Given the description of an element on the screen output the (x, y) to click on. 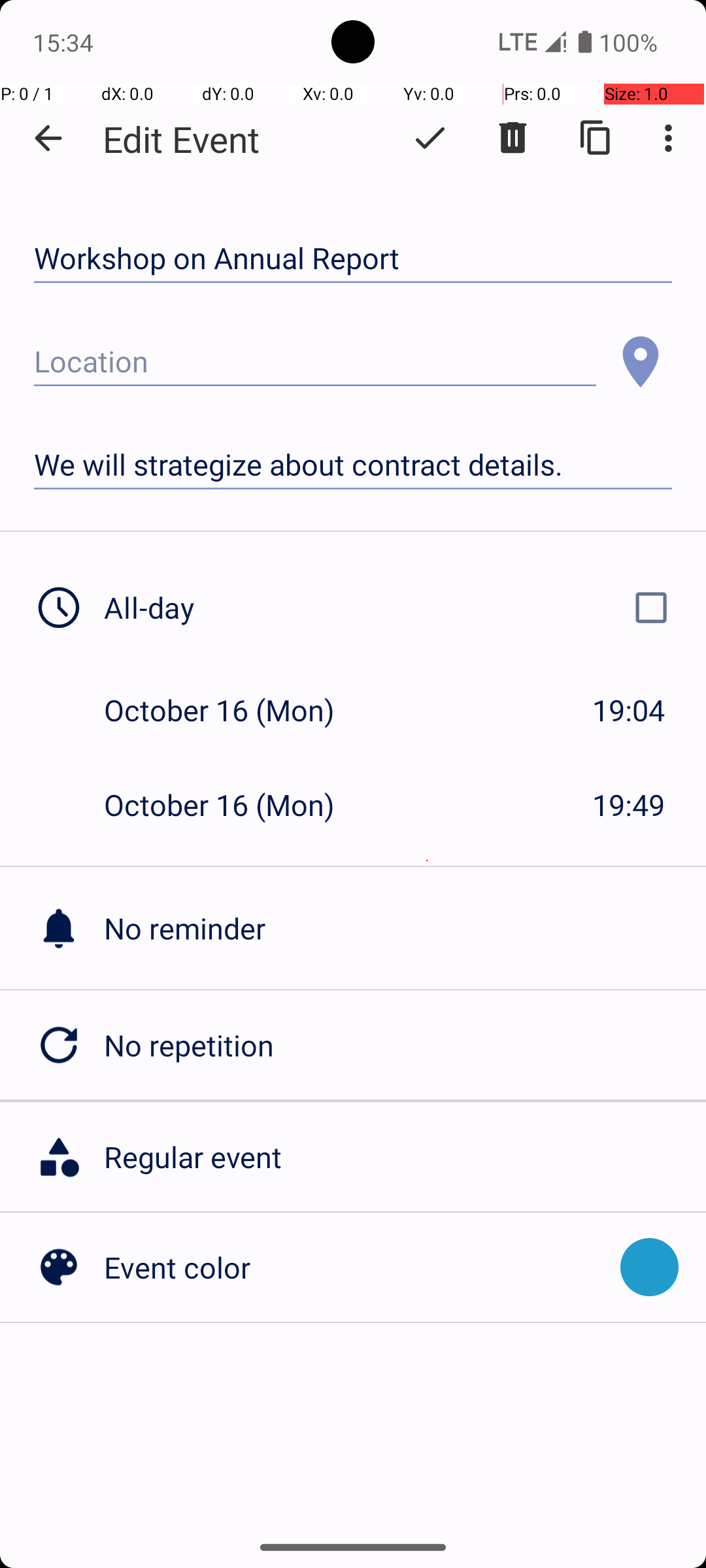
We will strategize about contract details. Element type: android.widget.EditText (352, 465)
19:04 Element type: android.widget.TextView (628, 709)
19:49 Element type: android.widget.TextView (628, 804)
